Given the description of an element on the screen output the (x, y) to click on. 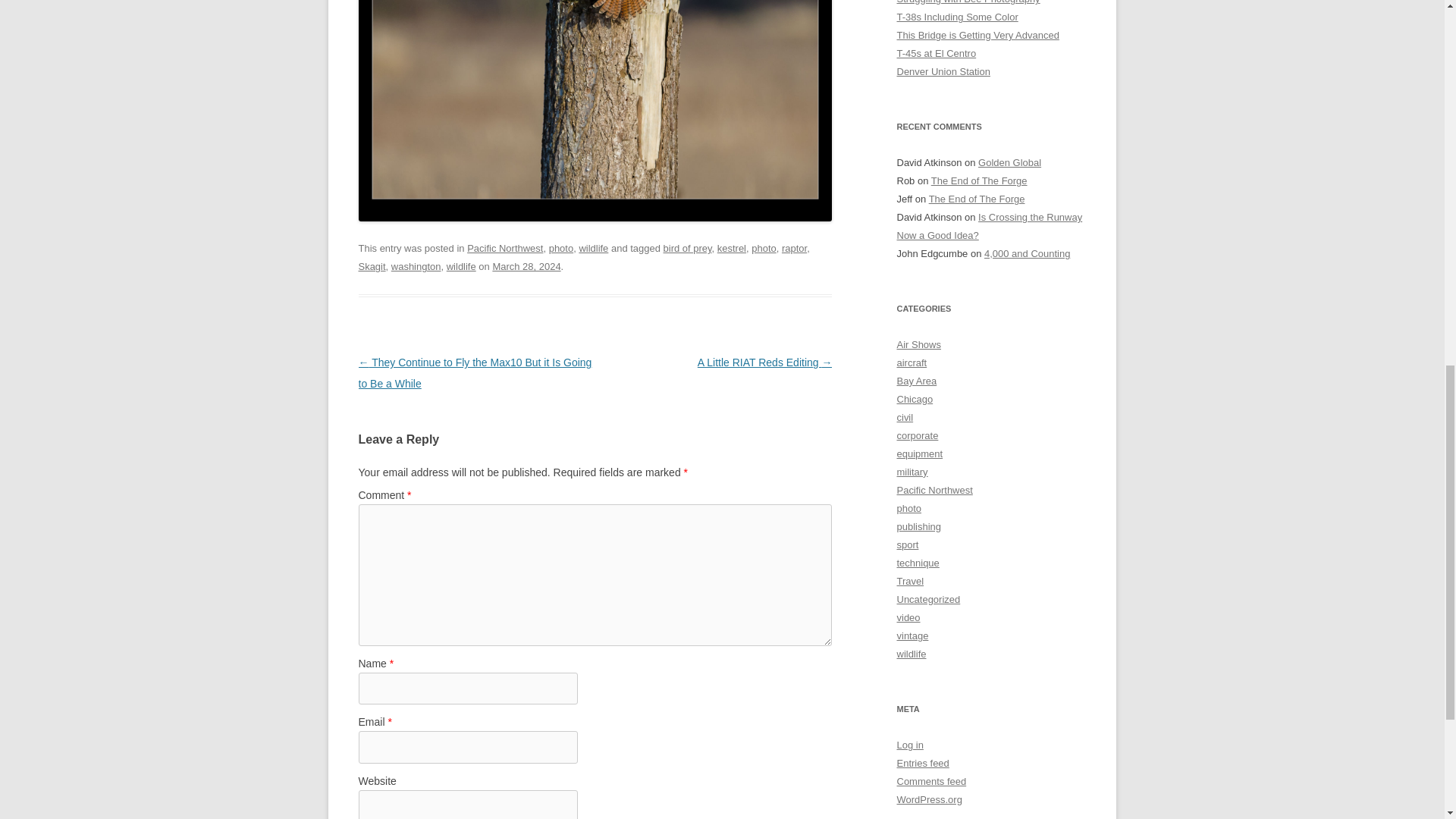
kestrel (731, 247)
photo (763, 247)
wildlife (461, 266)
photo (560, 247)
Skagit (371, 266)
March 28, 2024 (526, 266)
wildlife (593, 247)
bird of prey (687, 247)
washington (416, 266)
5:00 am (526, 266)
Pacific Northwest (505, 247)
raptor (793, 247)
